Given the description of an element on the screen output the (x, y) to click on. 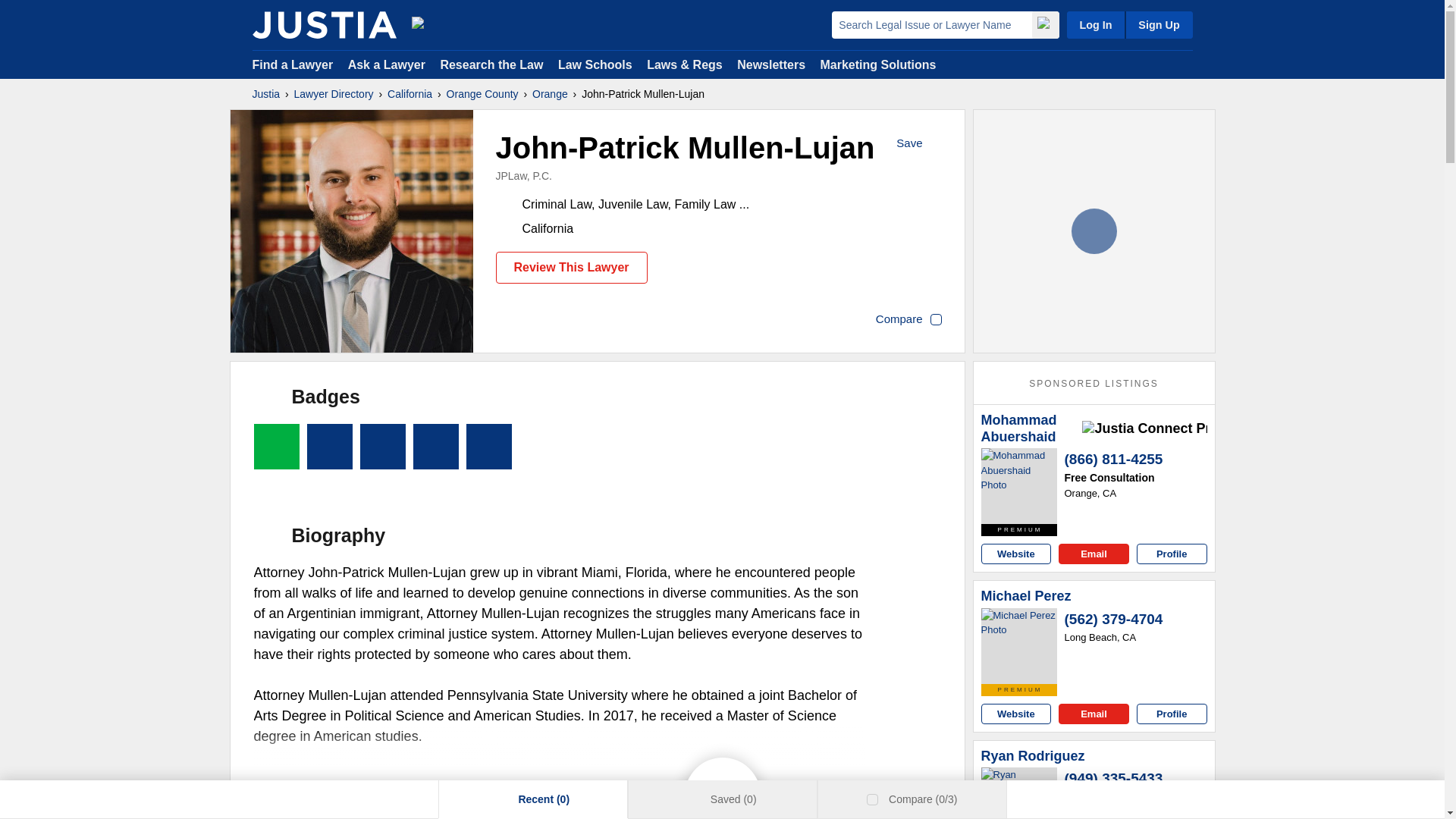
Michael Perez (1026, 596)
Search (1044, 24)
Newsletters (770, 64)
Compare (909, 319)
California (409, 93)
Research the Law (491, 64)
Law Schools (594, 64)
Log In (1094, 24)
Search Legal Issue or Lawyer Name (930, 24)
Orange County (482, 93)
Michael Perez (1019, 645)
Review This Lawyer (571, 267)
Justia Lawyer Directory (323, 24)
Mohammad Abuershaid (1019, 485)
John-Patrick Mullen-Lujan (351, 230)
